Given the description of an element on the screen output the (x, y) to click on. 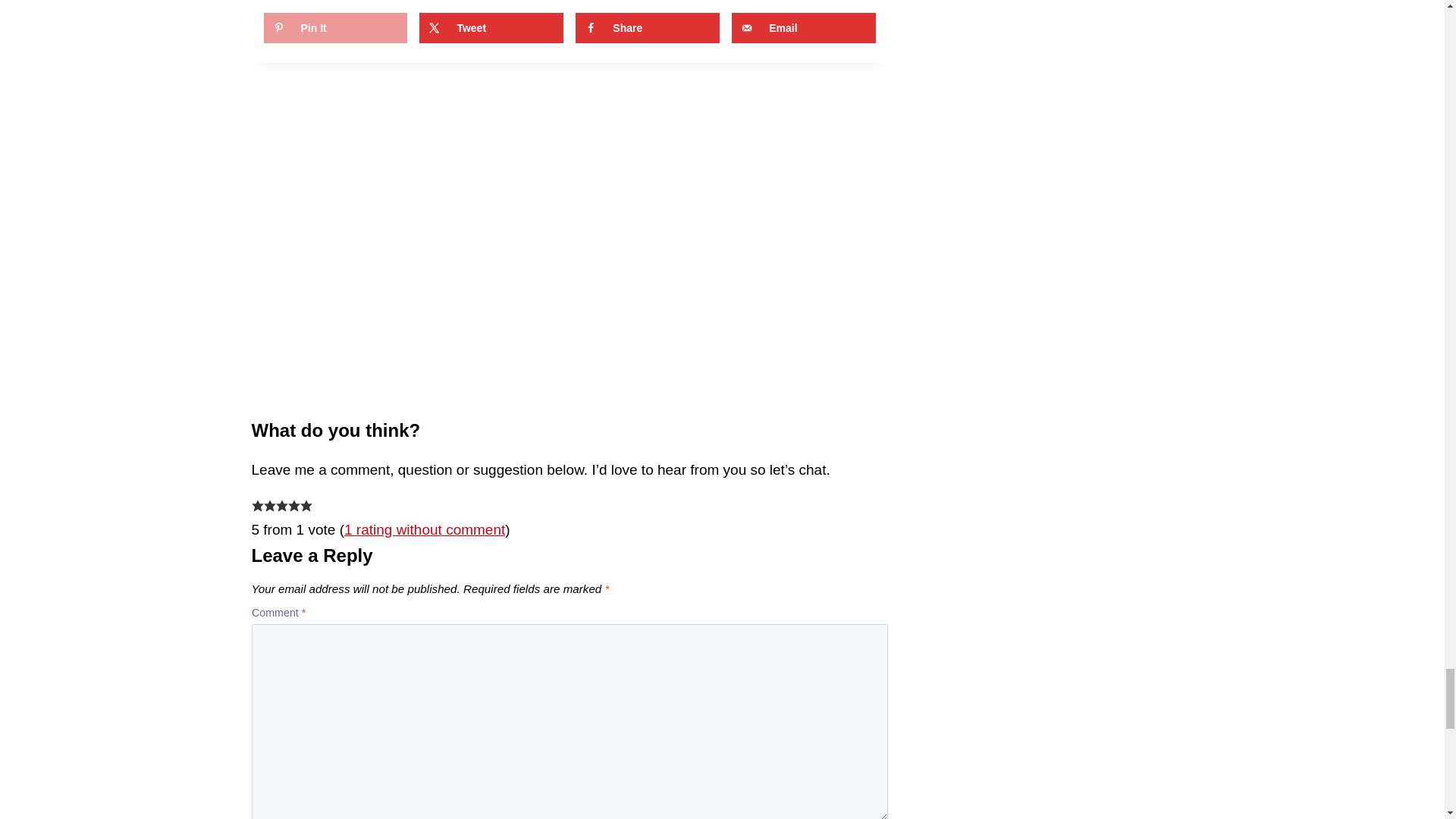
Send over email (804, 28)
Save to Pinterest (335, 28)
Share on X (491, 28)
Share on Facebook (647, 28)
